Given the description of an element on the screen output the (x, y) to click on. 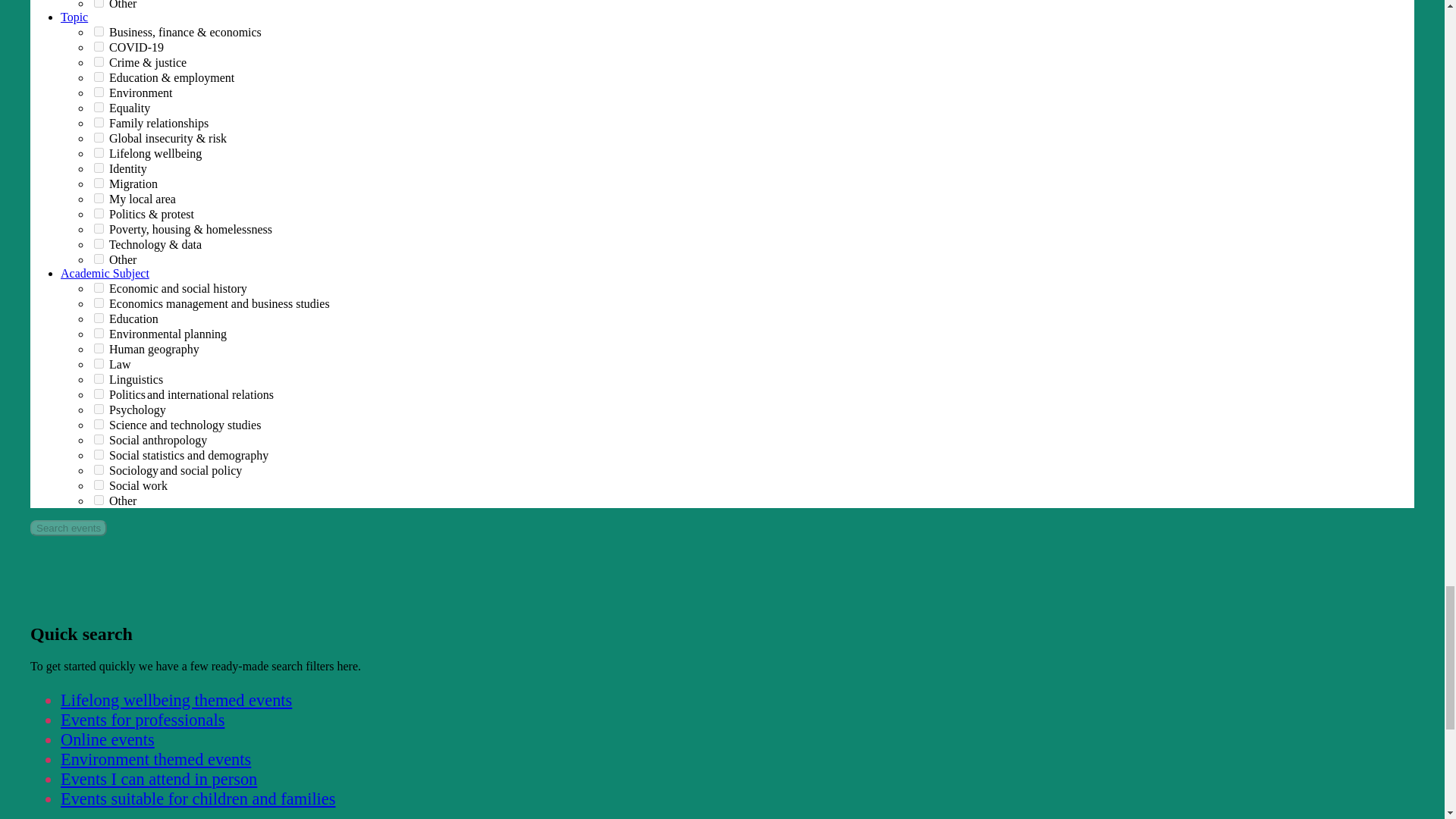
Environment themed events (155, 759)
Academic Subject (105, 273)
Events I can attend in person (159, 778)
Search events (68, 528)
Online events (107, 739)
Topic (74, 16)
Lifelong wellbeing themed events (176, 700)
Events for professionals (142, 719)
